Given the description of an element on the screen output the (x, y) to click on. 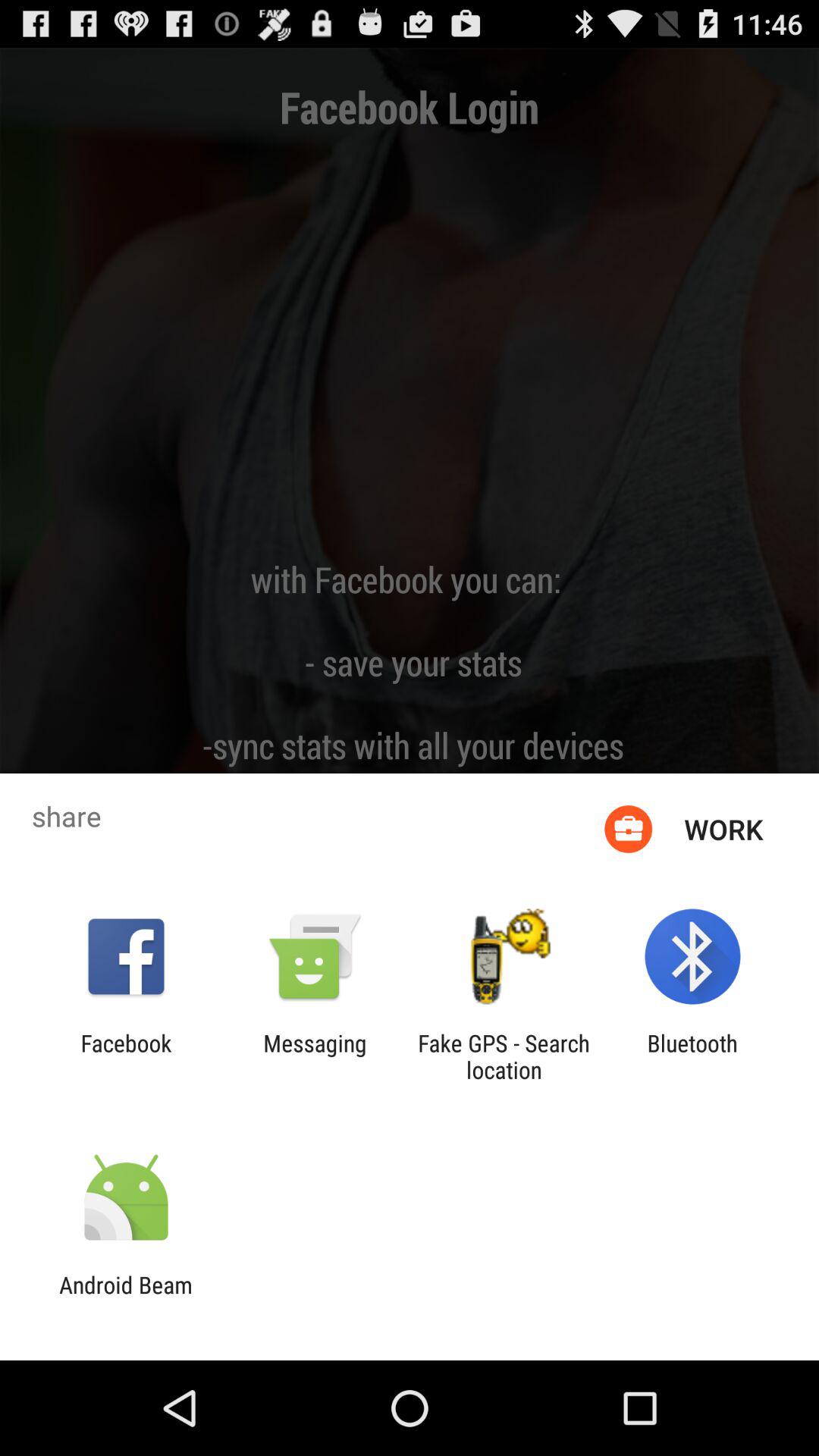
launch the app next to messaging (125, 1056)
